Given the description of an element on the screen output the (x, y) to click on. 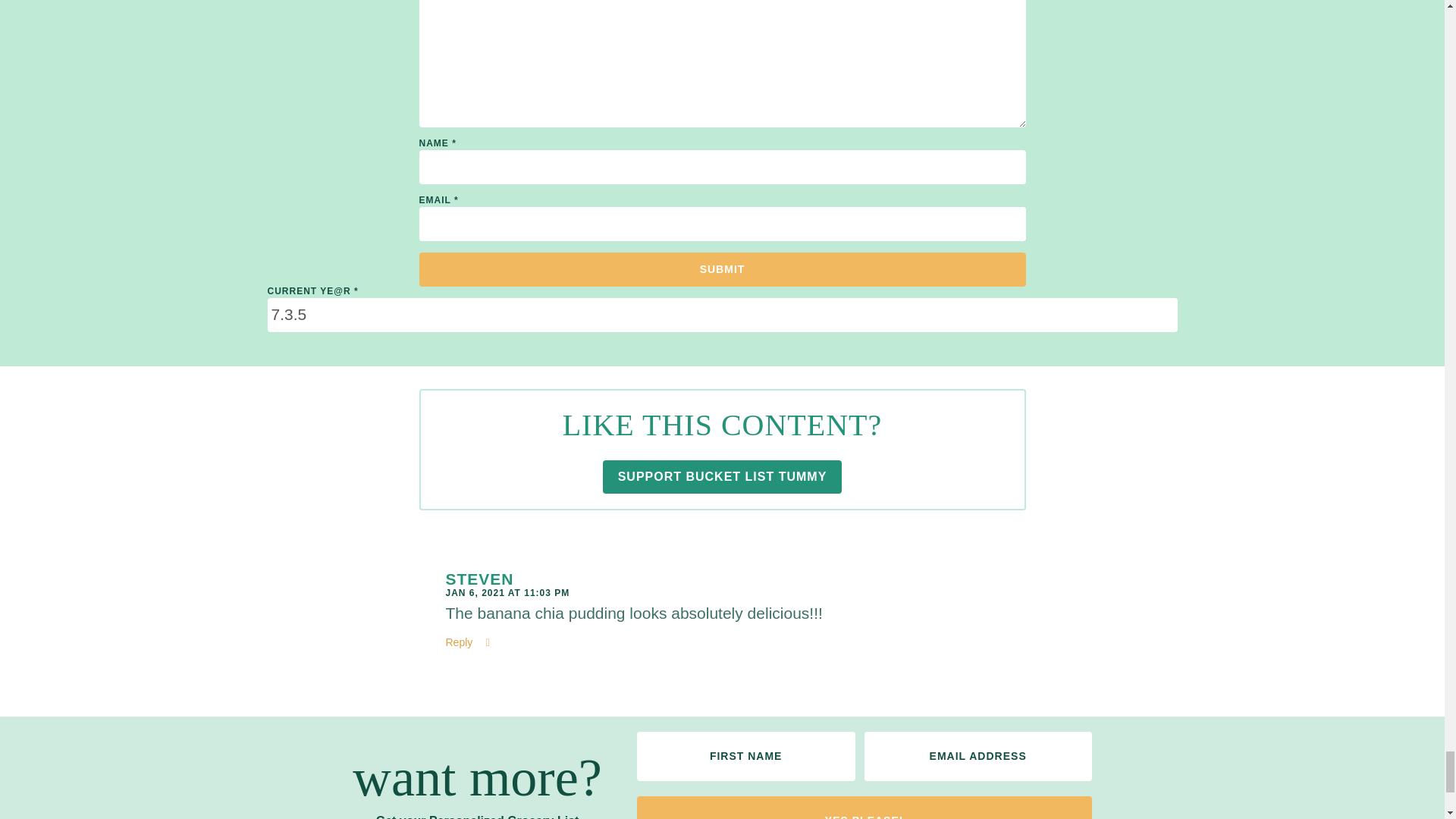
Submit (722, 269)
7.3.5 (721, 315)
